Given the description of an element on the screen output the (x, y) to click on. 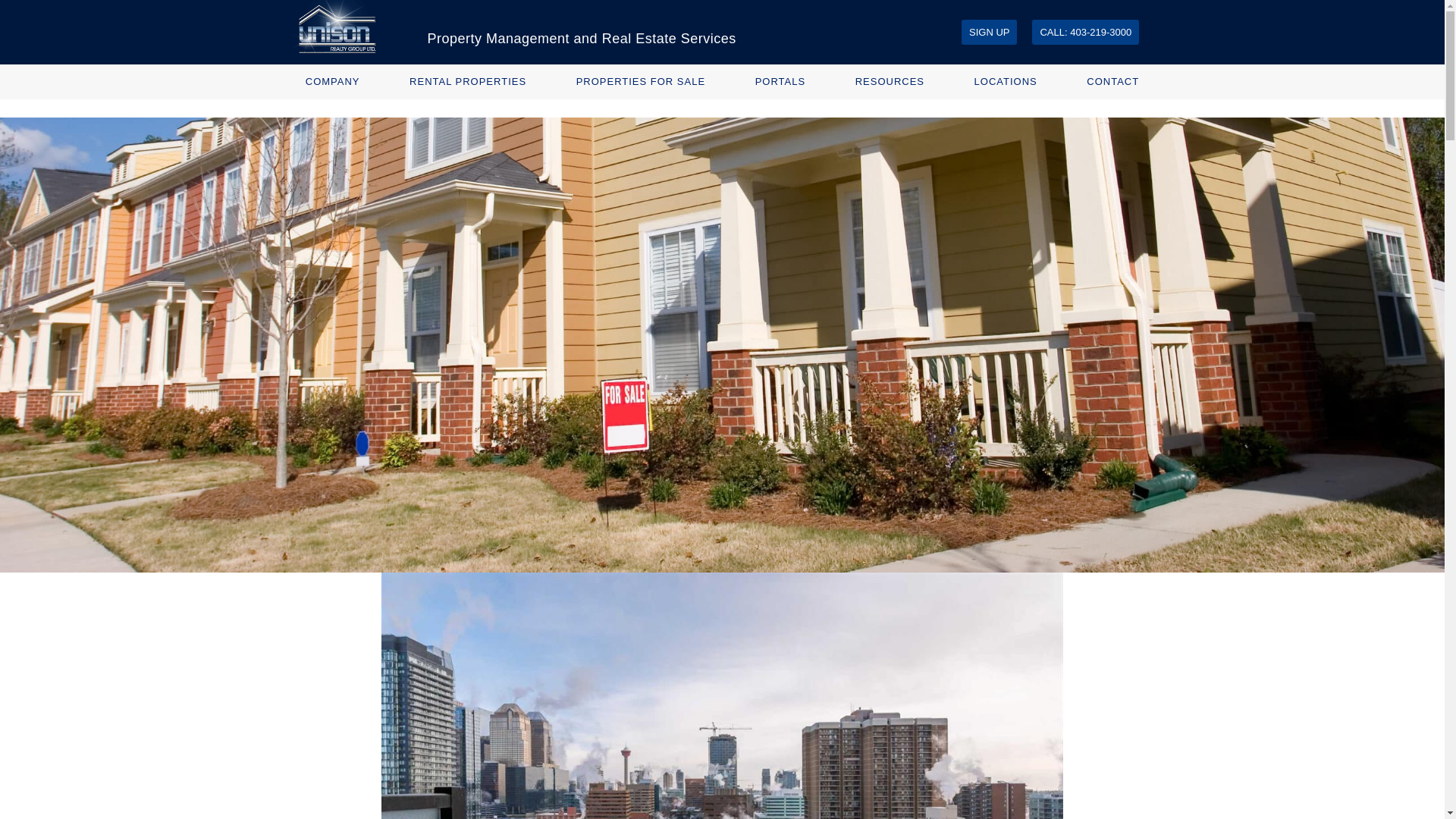
COMPANY (331, 81)
SIGN UP (988, 32)
CALL: 403-219-3000 (1085, 32)
RENTAL PROPERTIES (467, 81)
PROPERTIES FOR SALE (640, 81)
